Given the description of an element on the screen output the (x, y) to click on. 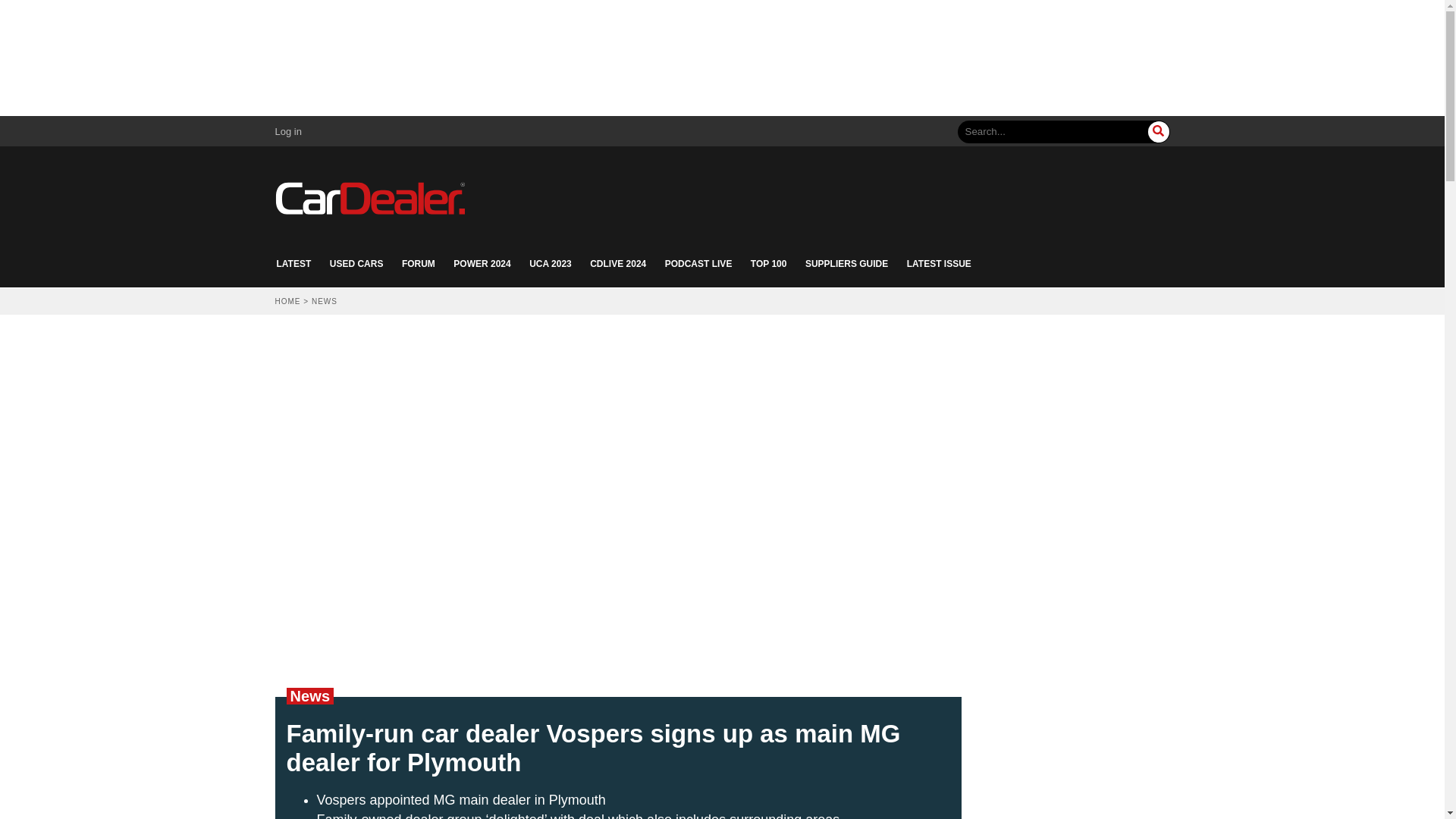
LATEST (293, 263)
USED CARS (357, 263)
LATEST ISSUE (939, 263)
UCA 2023 (550, 263)
News (309, 695)
NEWS (324, 301)
TOP 100 (769, 263)
FORUM (418, 263)
HOME (287, 301)
PODCAST LIVE (698, 263)
POWER 2024 (481, 263)
Log in (288, 131)
SUPPLIERS GUIDE (846, 263)
CDLIVE 2024 (617, 263)
